Given the description of an element on the screen output the (x, y) to click on. 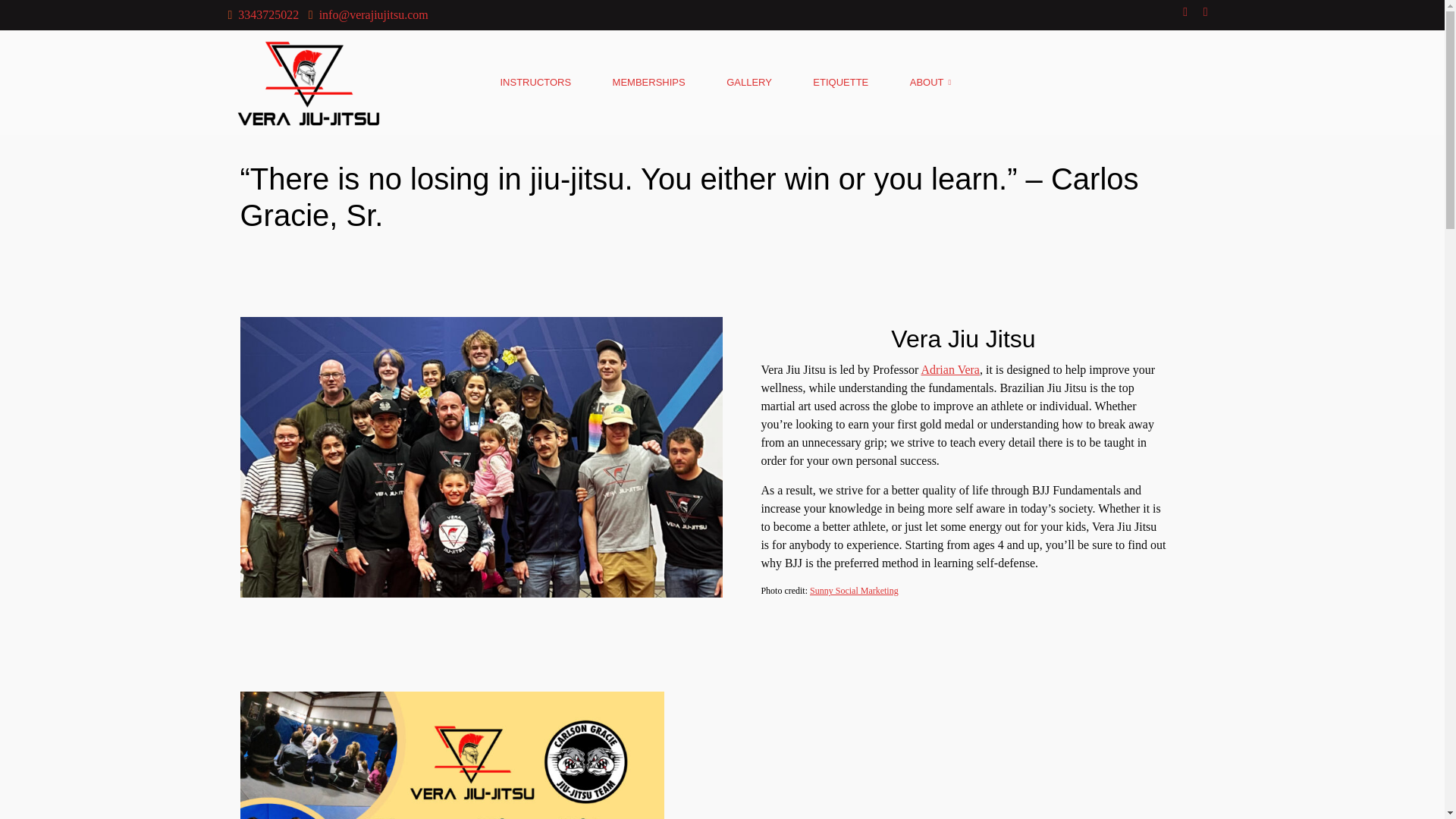
Adrian Vera (949, 369)
Sunny Social Marketing (853, 590)
MEMBERSHIPS (649, 82)
Facebook (1184, 11)
GALLERY (748, 82)
ABOUT (262, 14)
ETIQUETTE (928, 82)
Instagram (839, 82)
INSTRUCTORS (1205, 11)
